Given the description of an element on the screen output the (x, y) to click on. 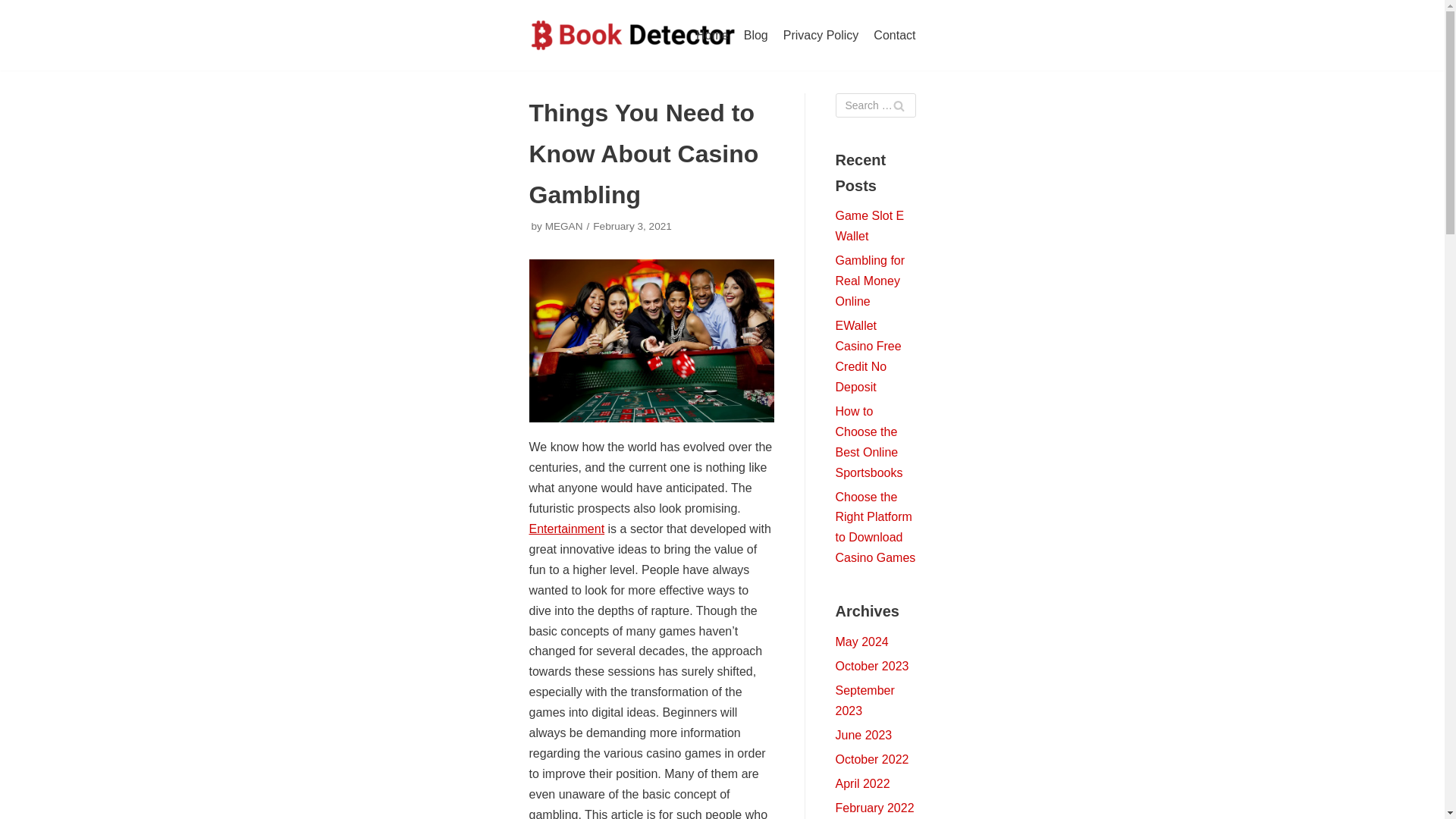
Choose the Right Platform to Download Casino Games (875, 527)
Home (712, 35)
Posts by MEGAN (563, 225)
June 2023 (863, 735)
Contact (894, 35)
April 2022 (862, 783)
October 2022 (871, 758)
Blog (756, 35)
Entertainment (567, 528)
Search (897, 105)
Search (897, 105)
October 2023 (871, 666)
Search (897, 105)
Gambling for Real Money Online (870, 280)
Privacy Policy (821, 35)
